Given the description of an element on the screen output the (x, y) to click on. 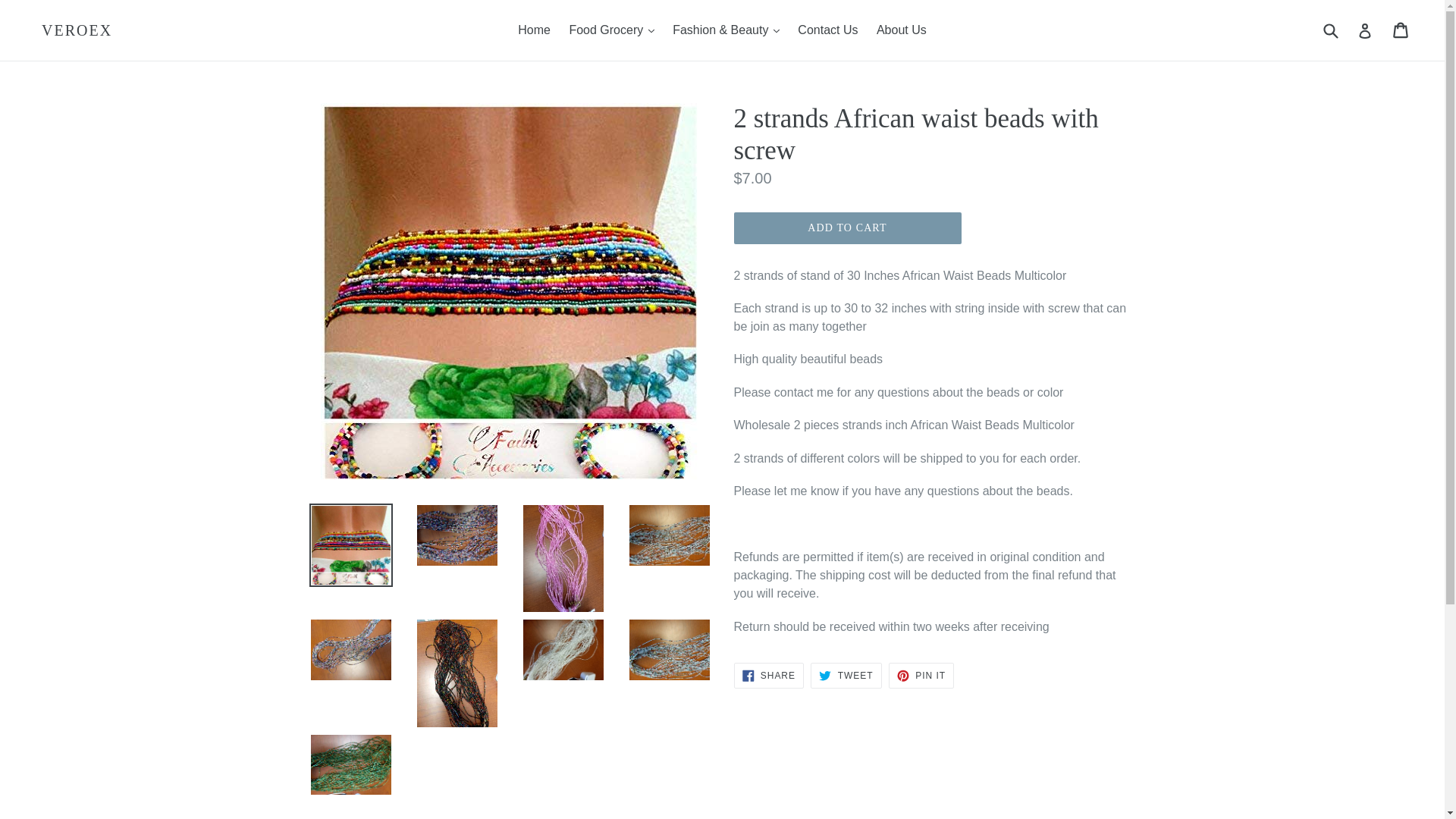
VEROEX (77, 30)
Pin on Pinterest (920, 675)
About Us (901, 29)
Contact Us (827, 29)
Share on Facebook (768, 675)
Home (534, 29)
Tweet on Twitter (845, 675)
